Given the description of an element on the screen output the (x, y) to click on. 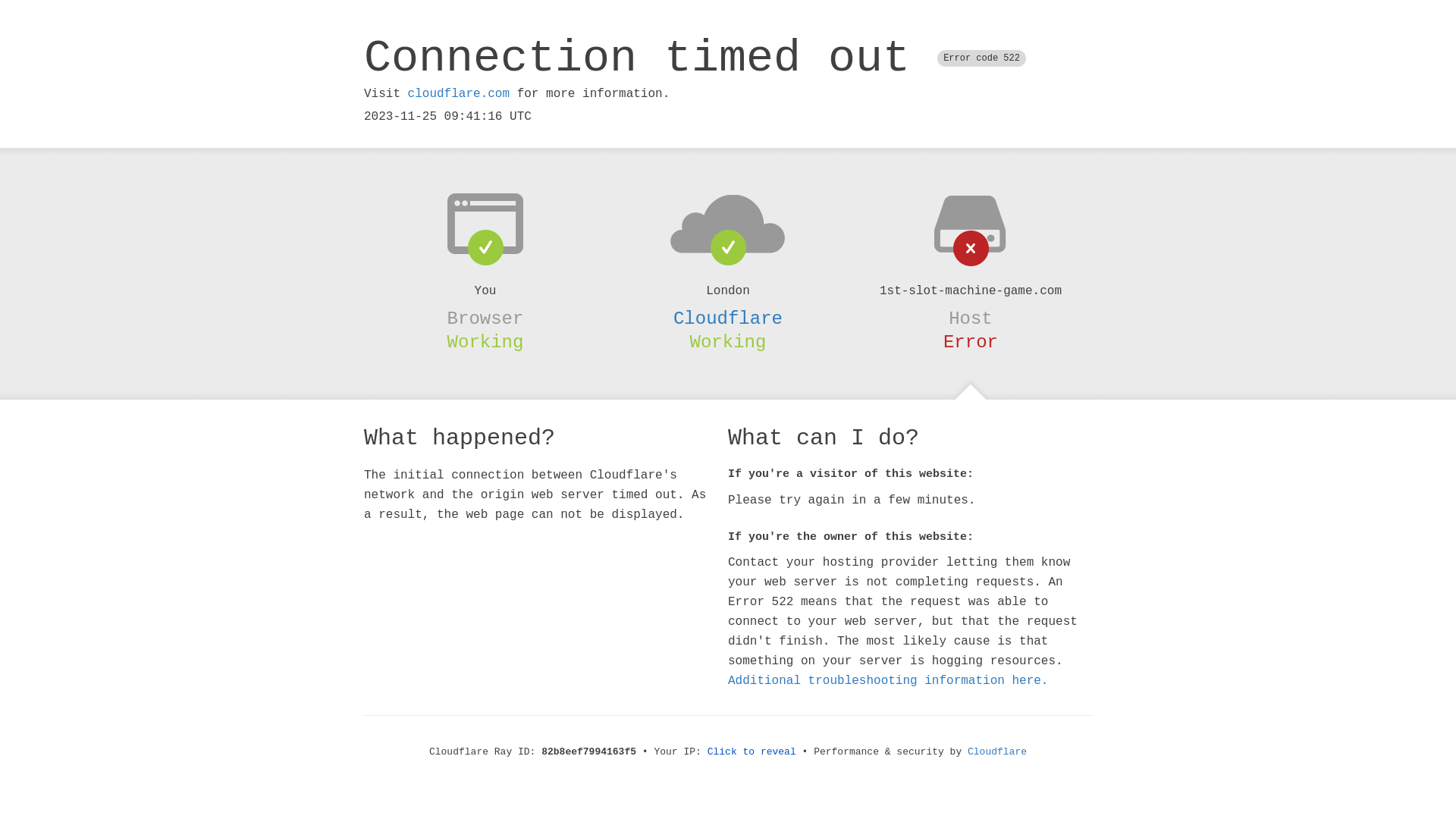
Cloudflare Element type: text (727, 318)
Additional troubleshooting information here. Element type: text (888, 680)
cloudflare.com Element type: text (458, 93)
Cloudflare Element type: text (996, 751)
Click to reveal Element type: text (751, 751)
